Given the description of an element on the screen output the (x, y) to click on. 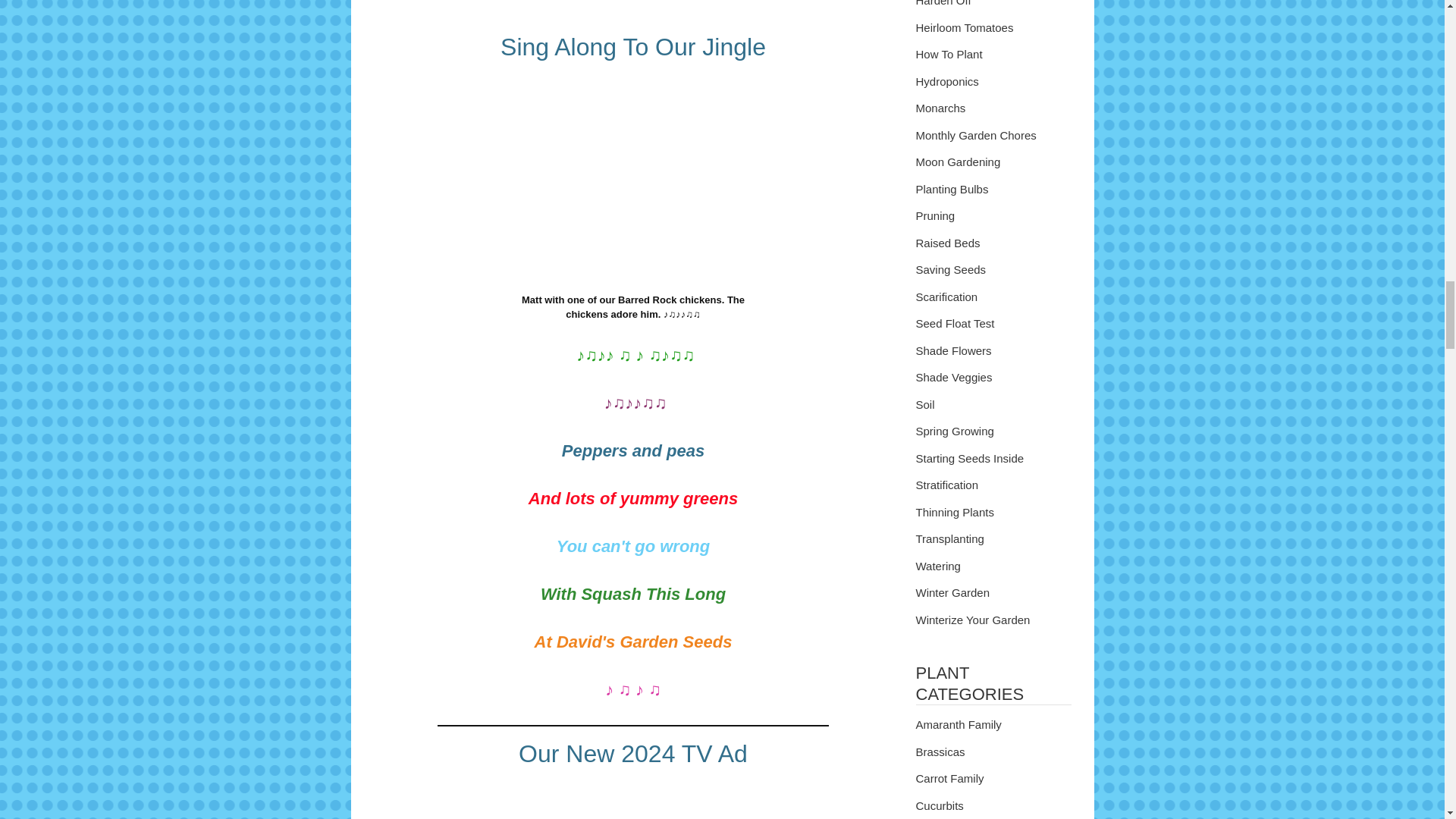
YouTube video player (632, 800)
YouTube video player (632, 7)
